Given the description of an element on the screen output the (x, y) to click on. 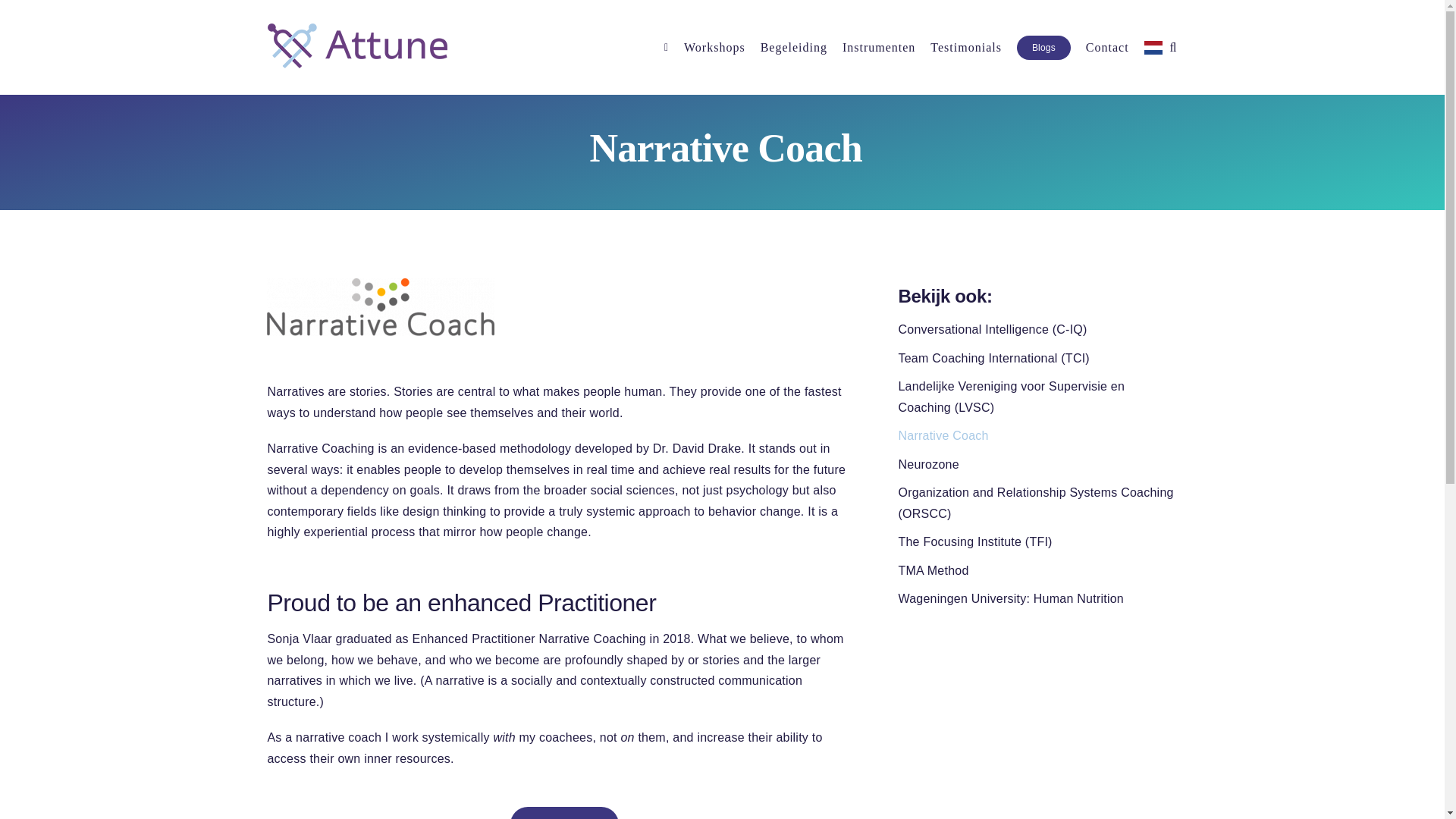
logo10new (380, 306)
